Given the description of an element on the screen output the (x, y) to click on. 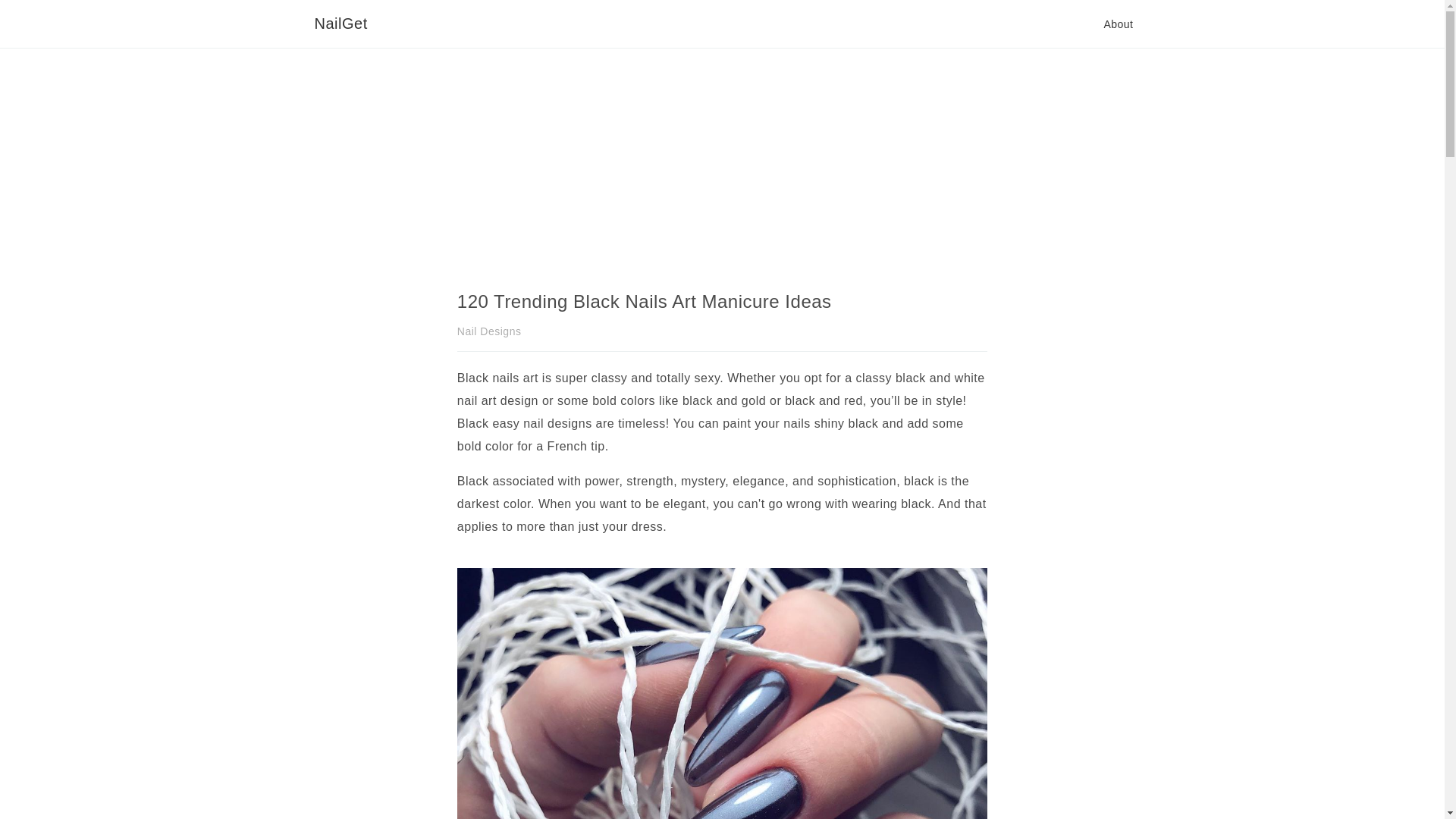
NailGet (340, 23)
About (1117, 24)
Nail Designs (489, 331)
